Given the description of an element on the screen output the (x, y) to click on. 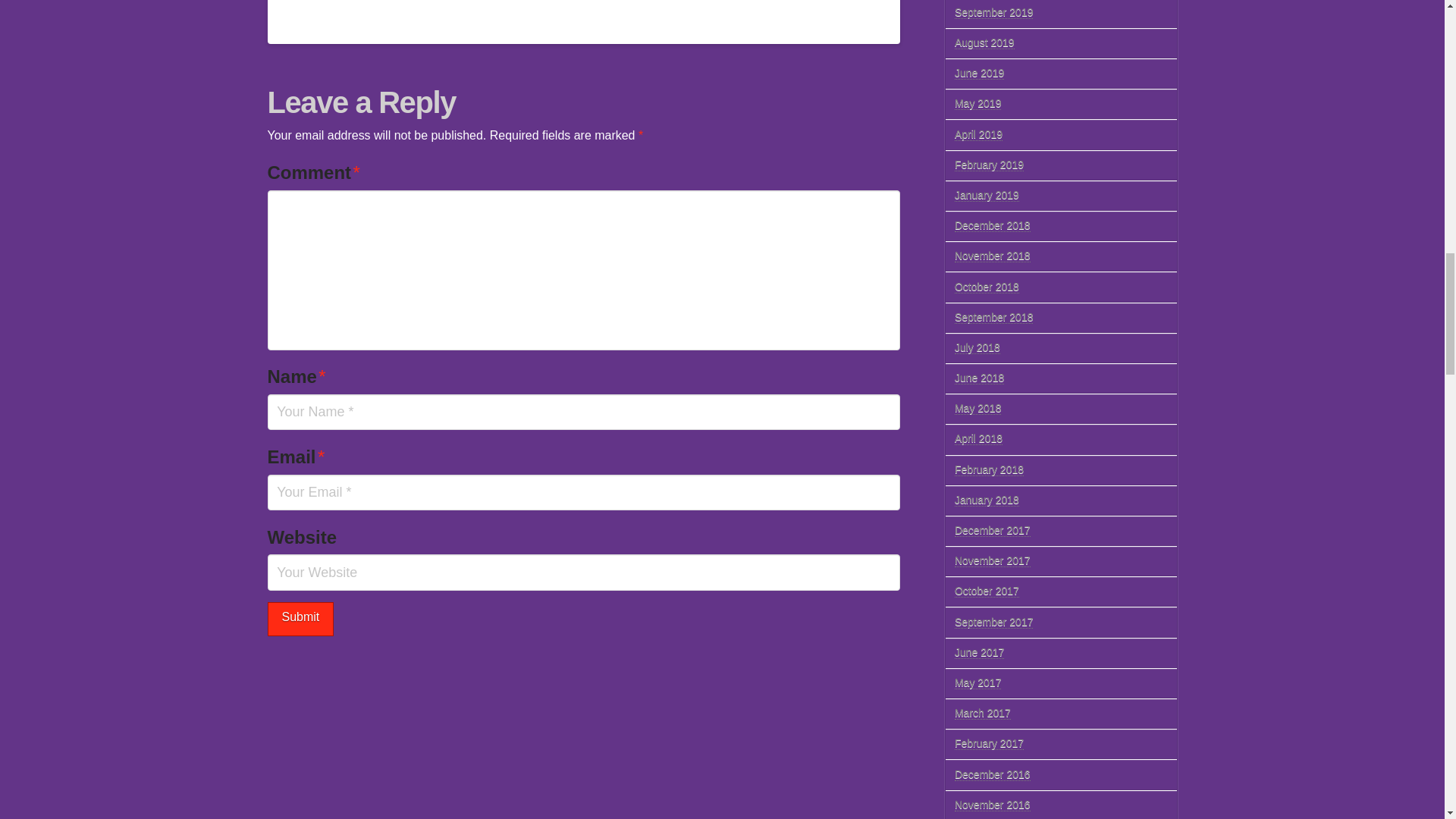
Submit (299, 618)
Submit (299, 618)
